Given the description of an element on the screen output the (x, y) to click on. 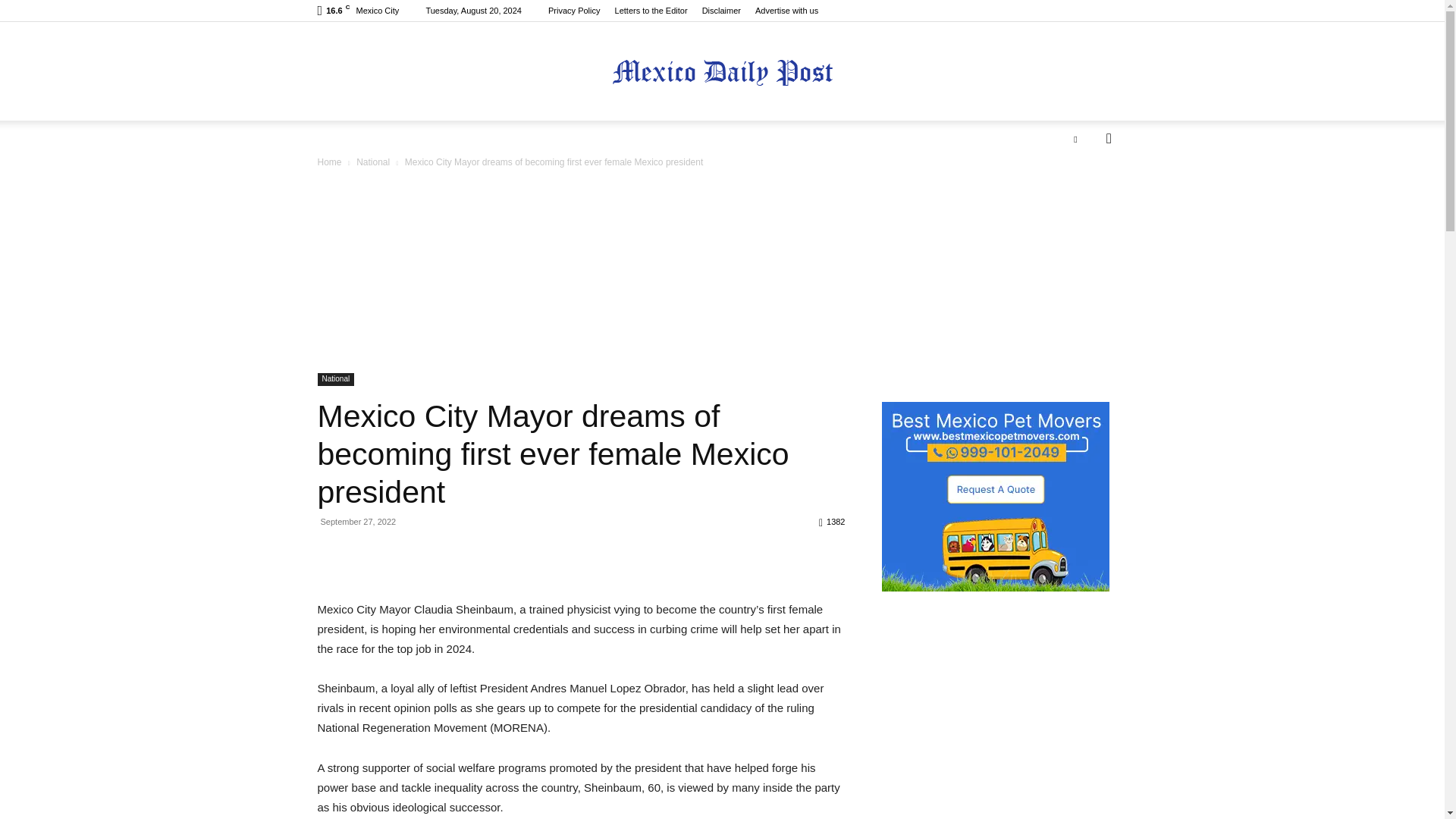
Advertise with us (786, 10)
View all posts in National (373, 162)
National (335, 379)
Home (328, 162)
Letters to the Editor (650, 10)
Disclaimer (721, 10)
Mexico Daily Post (721, 72)
Search (1085, 199)
National (373, 162)
Privacy Policy (573, 10)
